Given the description of an element on the screen output the (x, y) to click on. 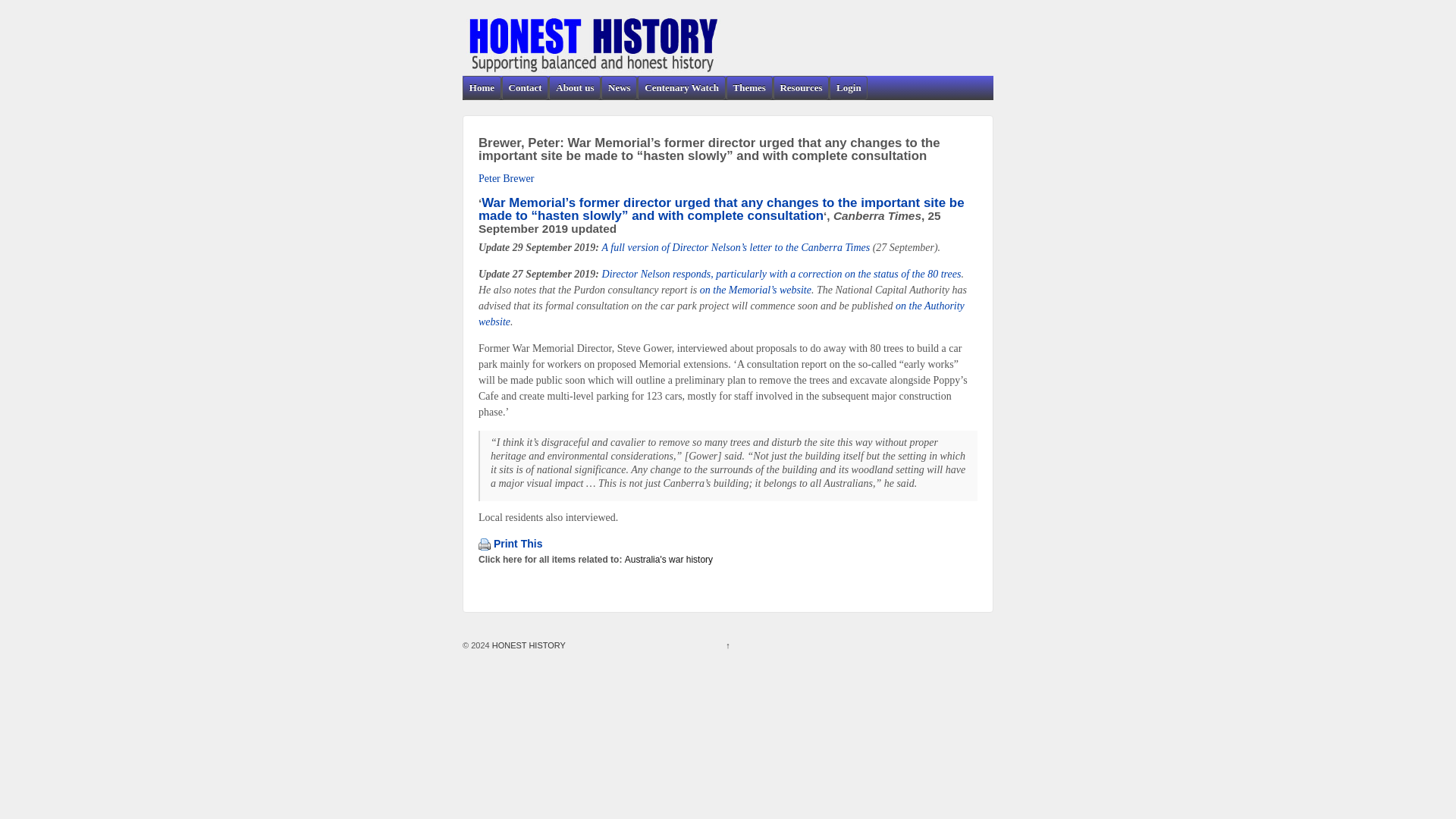
Resources (800, 87)
Contact (525, 87)
HONEST  HISTORY (527, 645)
Centenary Watch (680, 87)
Login (847, 87)
Themes (748, 87)
About us (573, 87)
Home (481, 87)
News (618, 87)
